Given the description of an element on the screen output the (x, y) to click on. 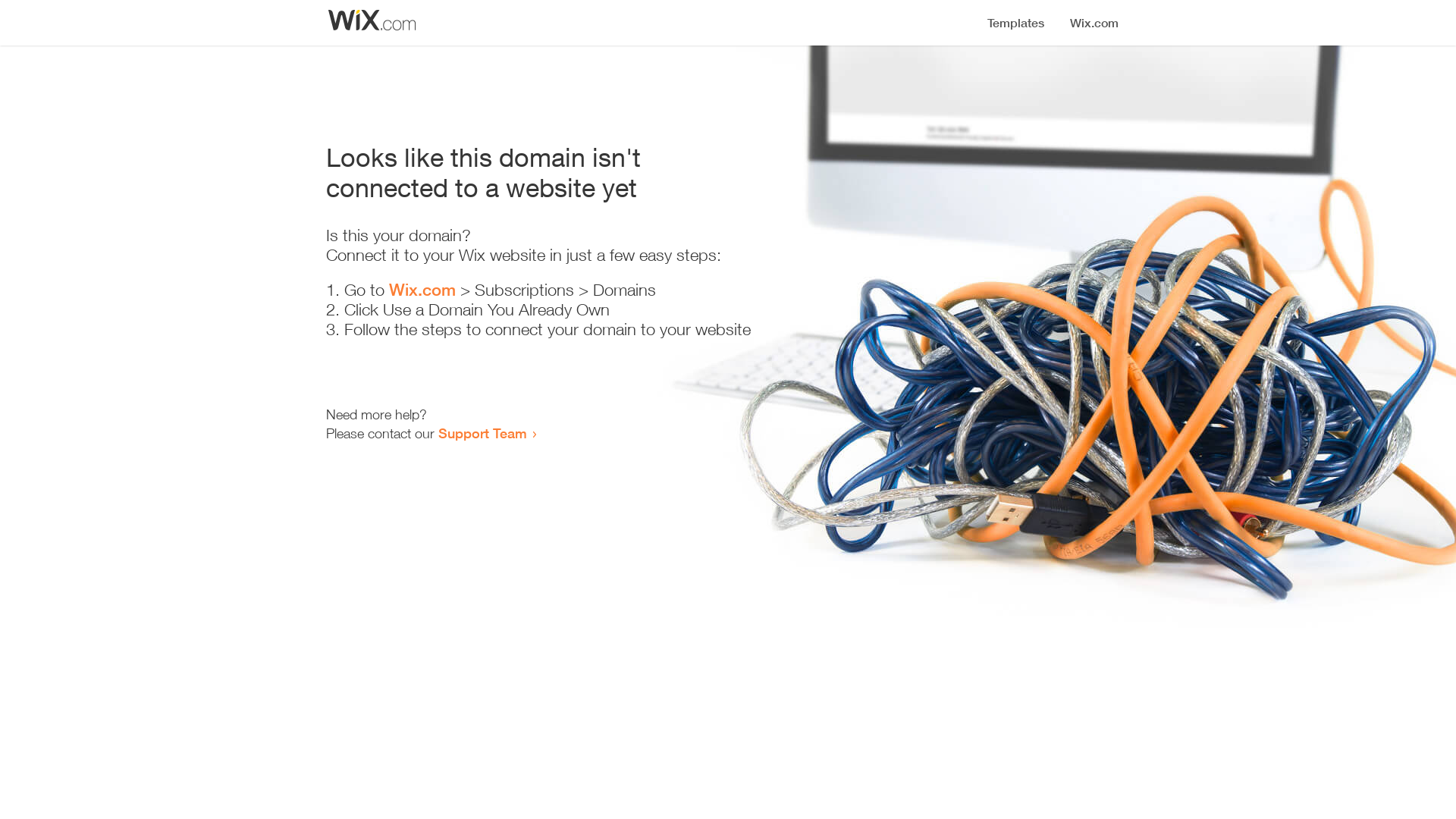
Support Team Element type: text (482, 432)
Wix.com Element type: text (422, 289)
